Given the description of an element on the screen output the (x, y) to click on. 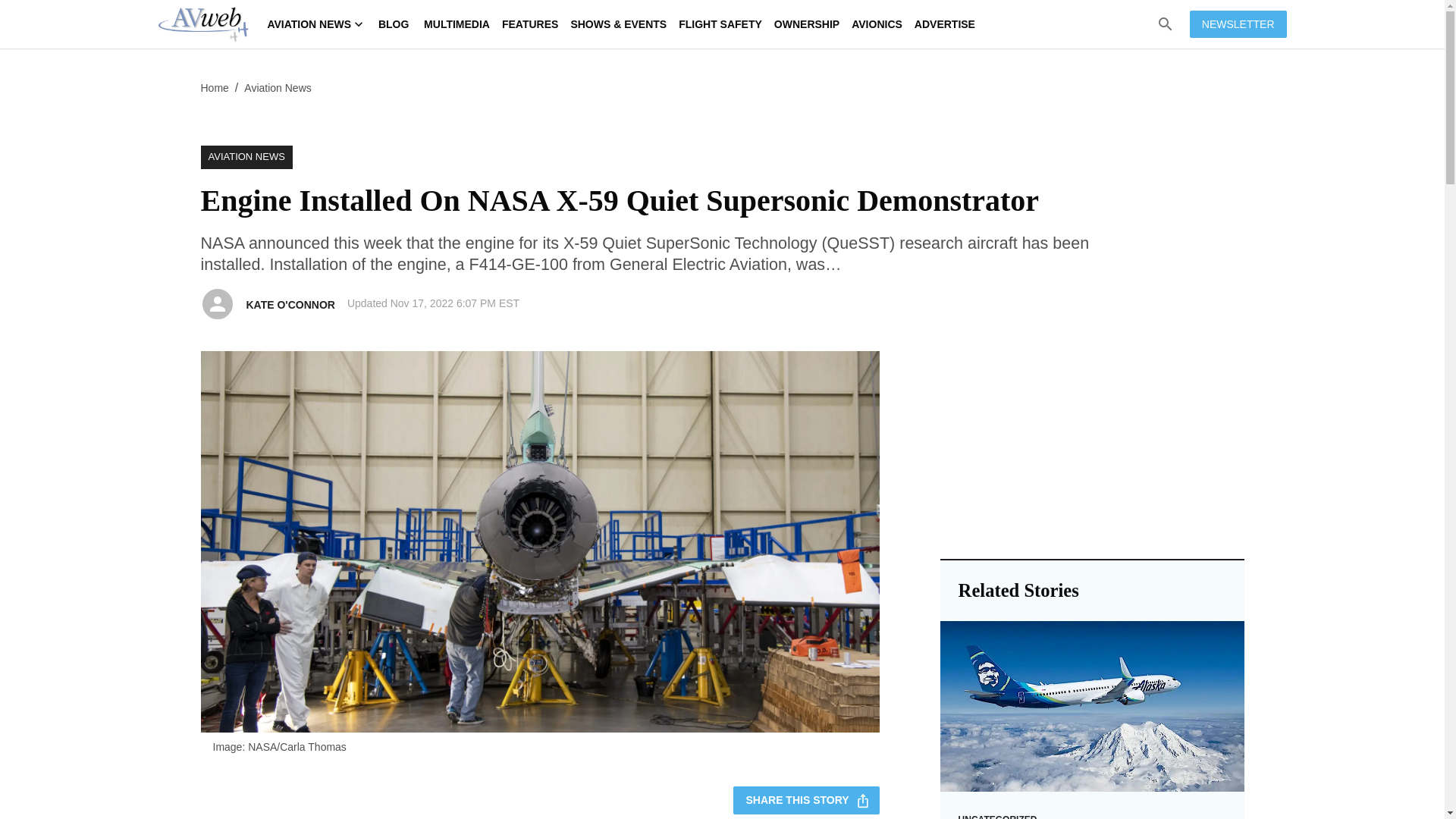
AVIATION NEWS (246, 156)
MULTIMEDIA (456, 24)
3rd party ad content (1091, 445)
ADVERTISE (944, 24)
AVIATION NEWS (314, 24)
Alaska Air, Hawaiian Merger Clears One Hurdle (1092, 706)
Aviation News (277, 87)
BLOG (393, 24)
UNCATEGORIZED (997, 816)
AVIONICS (876, 24)
